Given the description of an element on the screen output the (x, y) to click on. 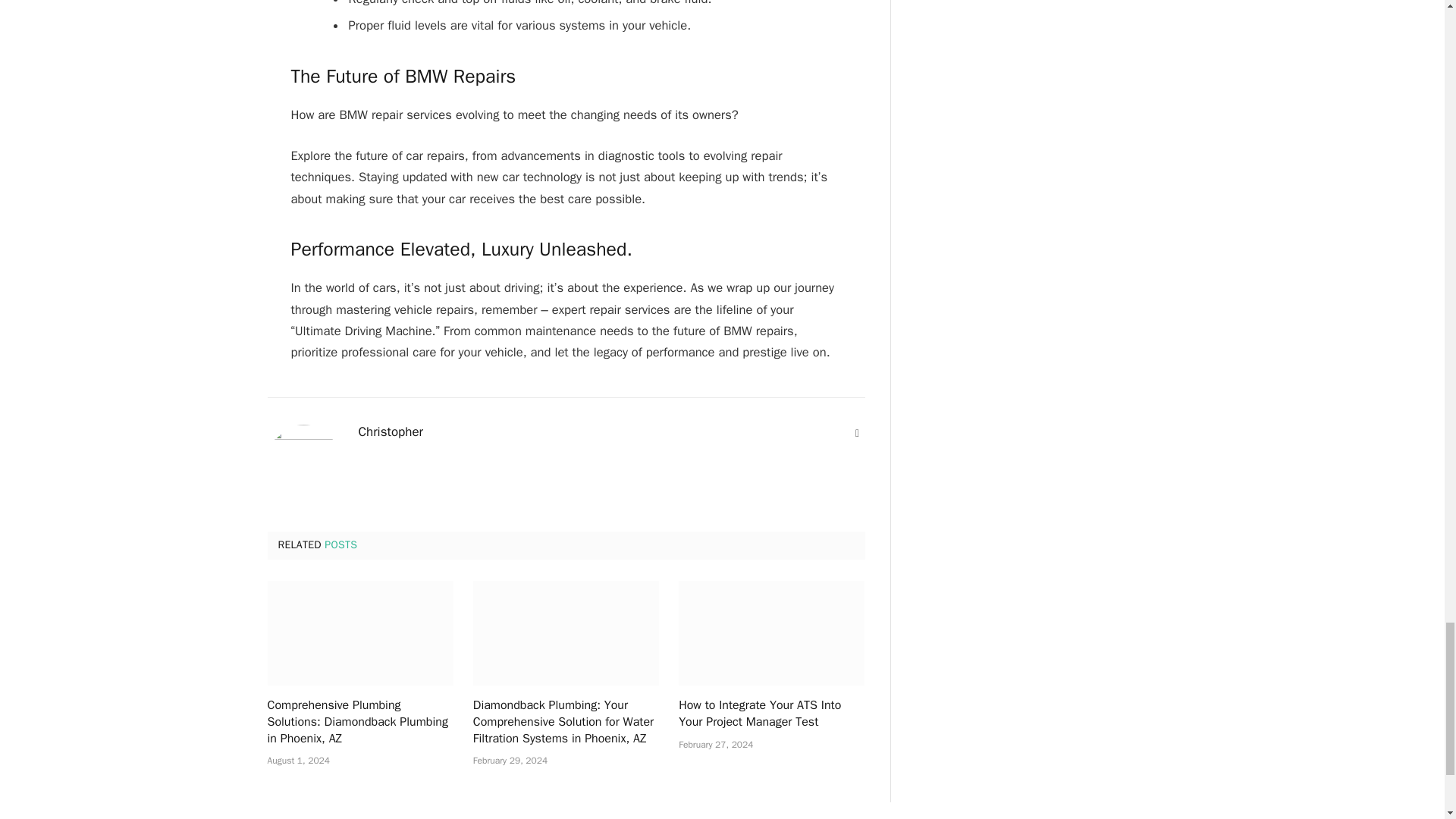
Posts by Christopher (390, 432)
How to Integrate Your ATS Into Your Project Manager Test (771, 632)
How to Integrate Your ATS Into Your Project Manager Test (771, 714)
Website (856, 433)
Christopher (390, 432)
Website (856, 433)
